Given the description of an element on the screen output the (x, y) to click on. 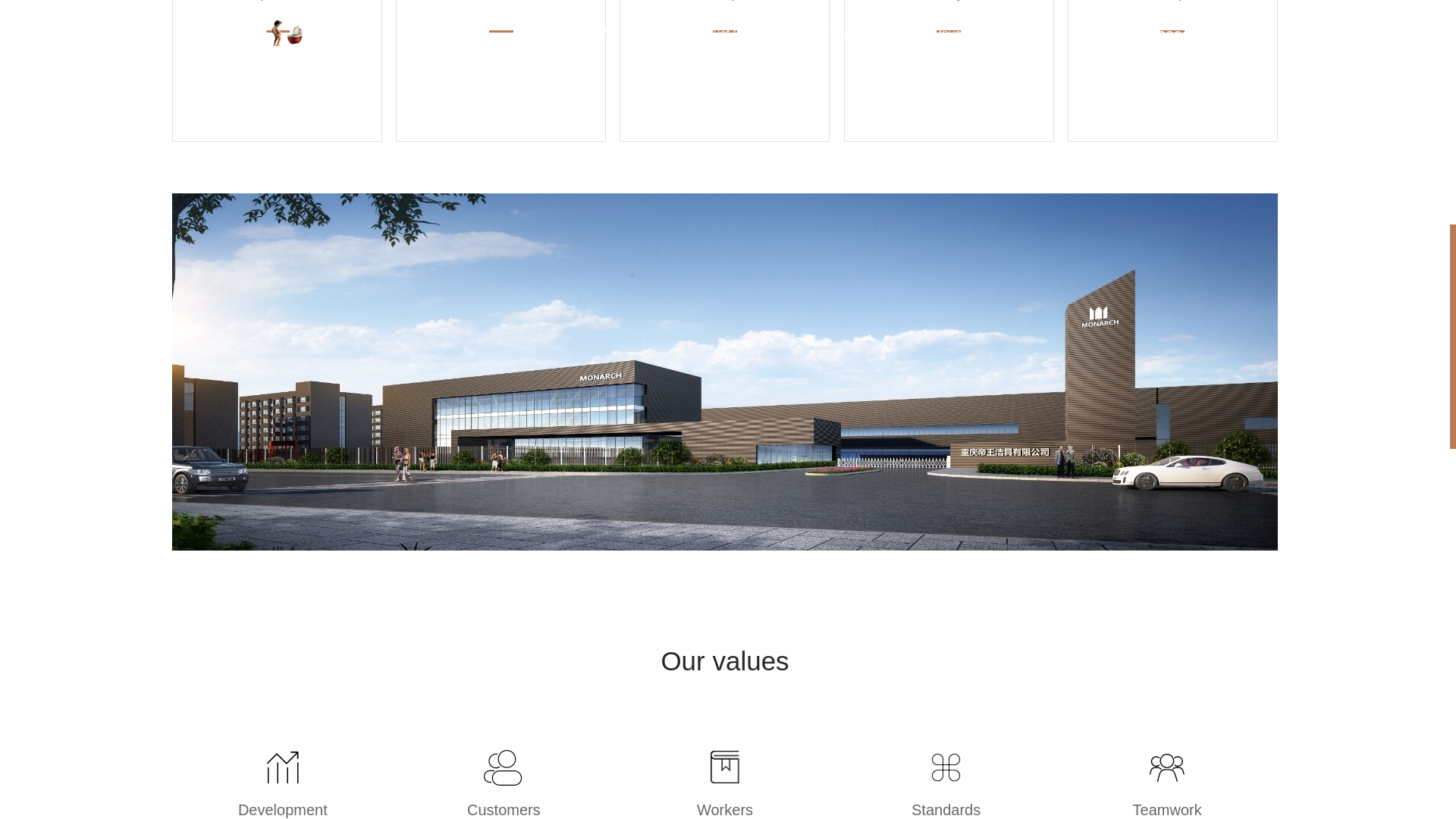
Workers (724, 767)
Standards (946, 767)
Development (283, 767)
Teamwork (1166, 767)
Customers (502, 767)
